Given the description of an element on the screen output the (x, y) to click on. 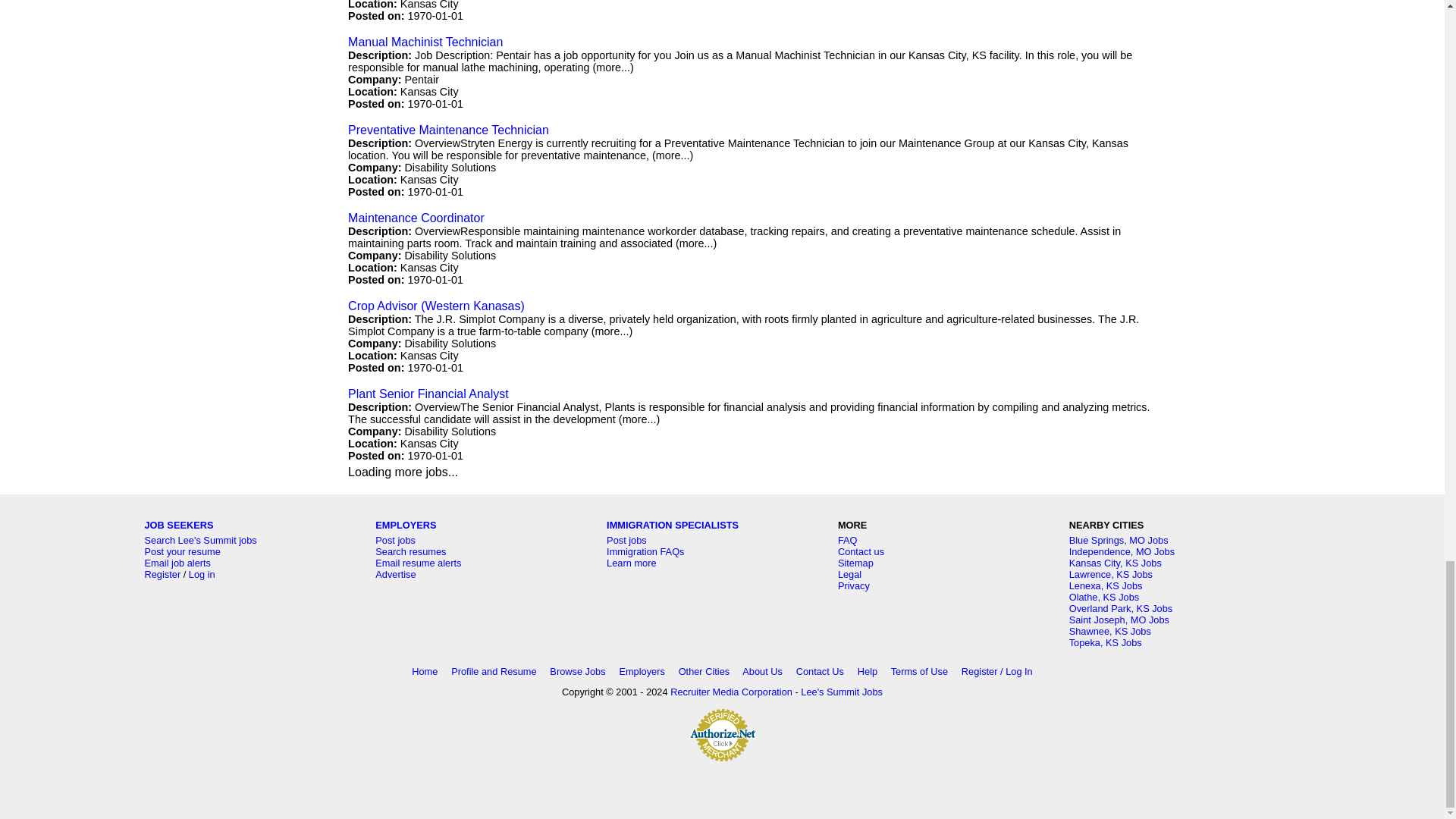
Plant Senior Financial Analyst (427, 393)
Manual Machinist Technician (424, 42)
Maintenance Coordinator (415, 217)
Preventative Maintenance Technician (447, 129)
